Given the description of an element on the screen output the (x, y) to click on. 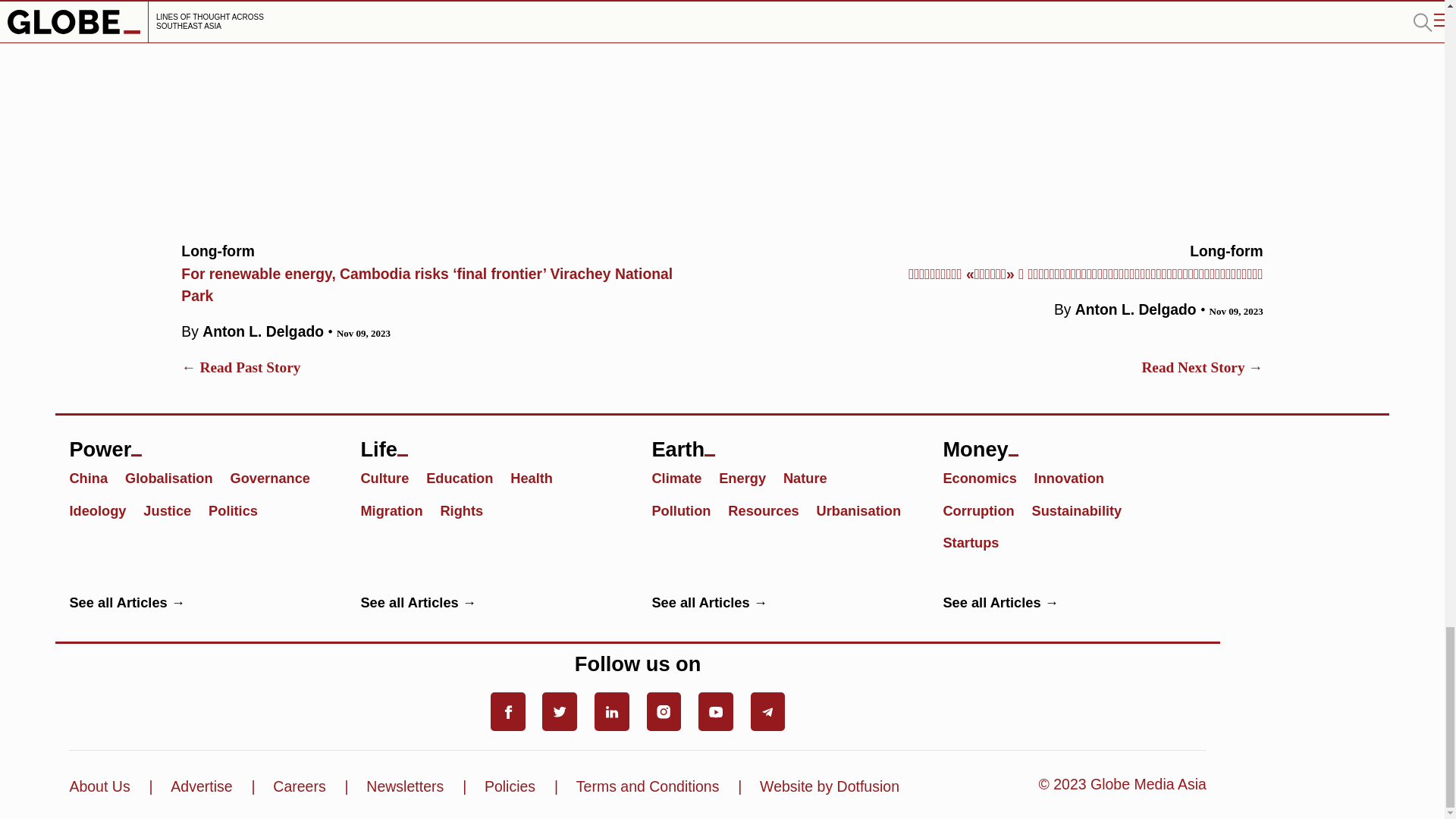
China (94, 477)
Power (199, 442)
Governance (276, 477)
Globalisation (176, 477)
Ideology (103, 509)
